Given the description of an element on the screen output the (x, y) to click on. 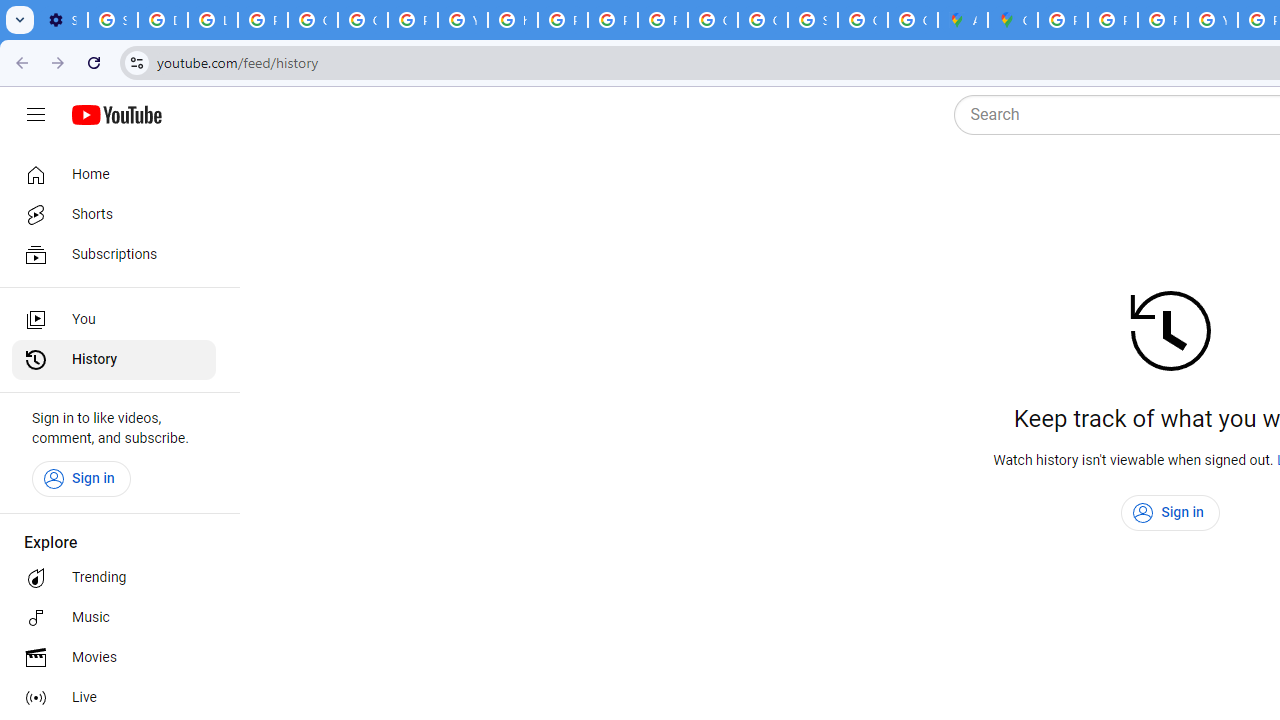
Trending (113, 578)
Sign in - Google Accounts (813, 20)
Guide (35, 115)
Home (113, 174)
Settings - On startup (62, 20)
Delete photos & videos - Computer - Google Photos Help (163, 20)
Music (113, 617)
